Given the description of an element on the screen output the (x, y) to click on. 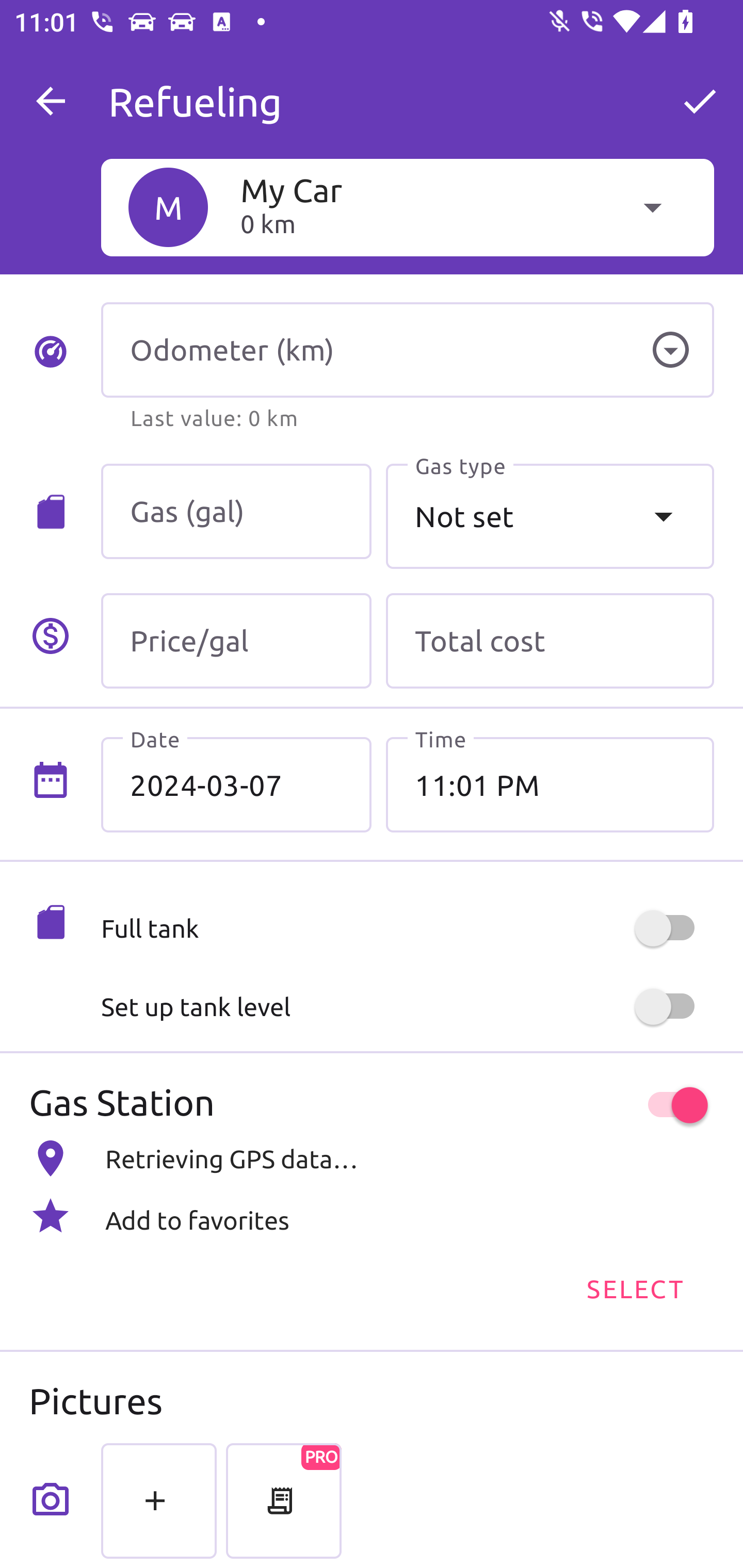
Navigate up (50, 101)
OK (699, 101)
M My Car 0 km (407, 206)
Odometer (km) (407, 350)
Odometer (670, 349)
Gas (gal) (236, 511)
Not set (549, 516)
Price/gal (236, 640)
Total cost  (549, 640)
2024-03-07 (236, 784)
11:01 PM (549, 784)
Full tank (407, 928)
Set up tank level (407, 1006)
Add to favorites (371, 1215)
SELECT (634, 1287)
